Given the description of an element on the screen output the (x, y) to click on. 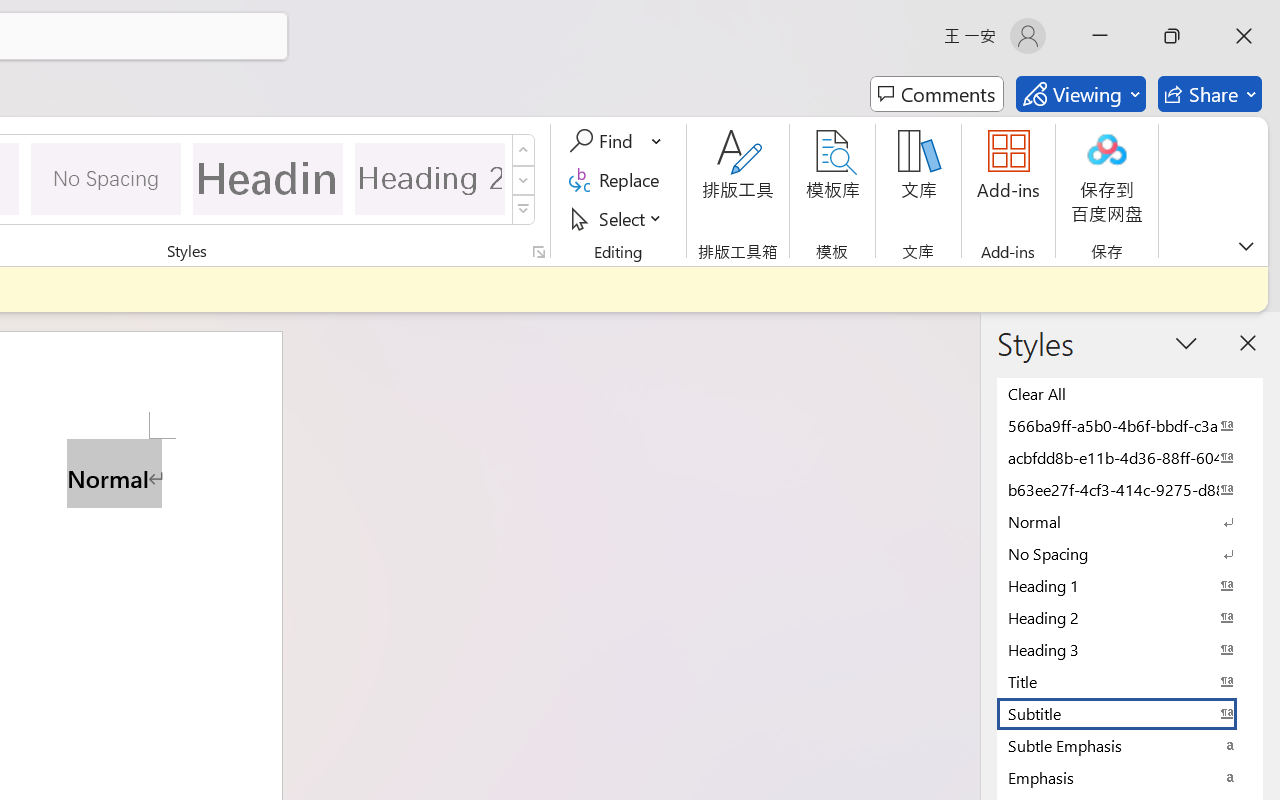
Emphasis (1130, 777)
Normal (1130, 521)
Styles... (538, 252)
Heading 1 (267, 178)
Row Down (523, 180)
Row up (523, 150)
Subtle Emphasis (1130, 745)
Heading 3 (1130, 649)
Heading 2 (429, 178)
acbfdd8b-e11b-4d36-88ff-6049b138f862 (1130, 457)
Subtitle (1130, 713)
